Given the description of an element on the screen output the (x, y) to click on. 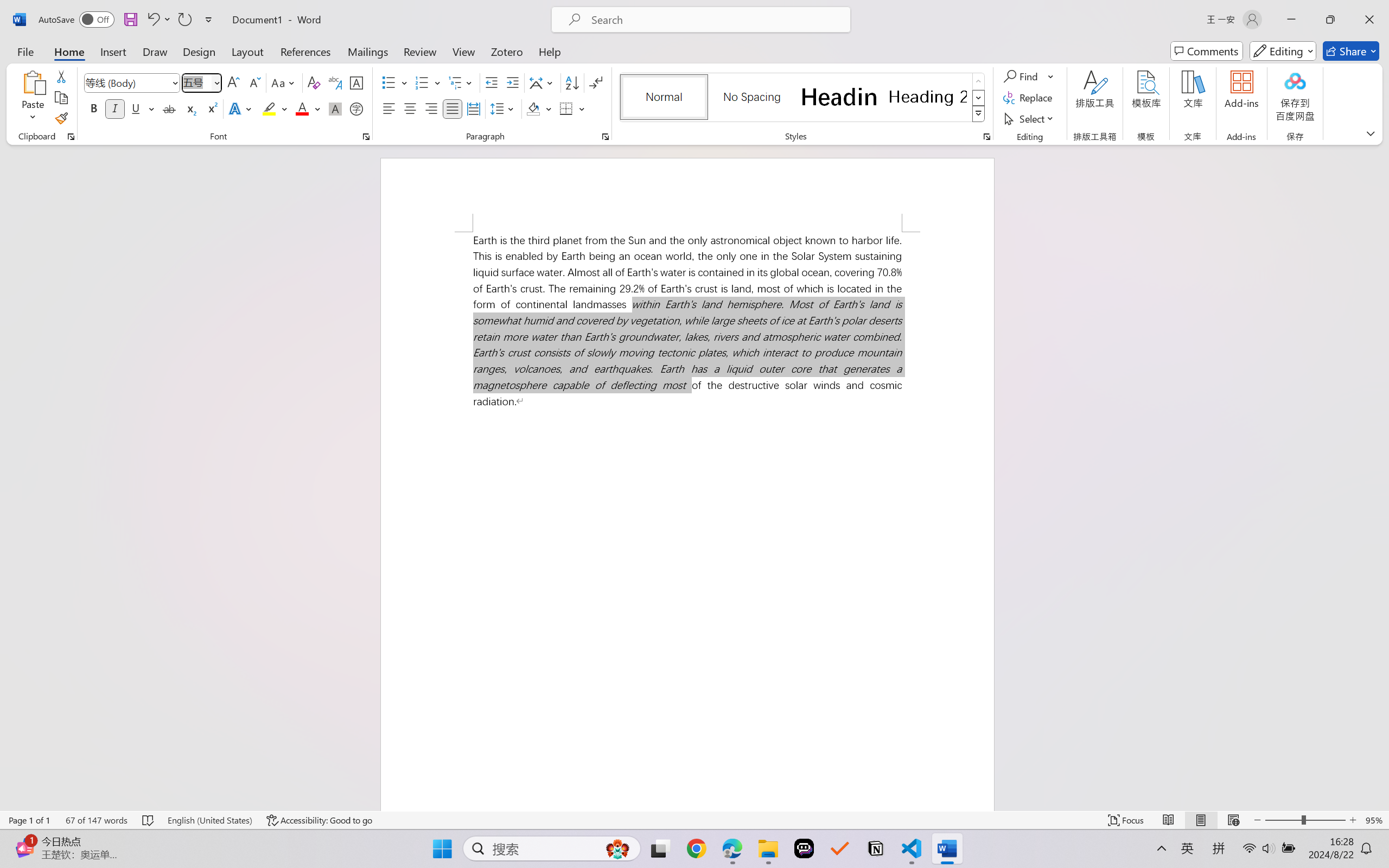
AutomationID: QuickStylesGallery (802, 97)
Open (215, 82)
Heading 1 (839, 96)
Shading (539, 108)
Sort... (571, 82)
Styles... (986, 136)
Styles (978, 113)
Subscript (190, 108)
